Given the description of an element on the screen output the (x, y) to click on. 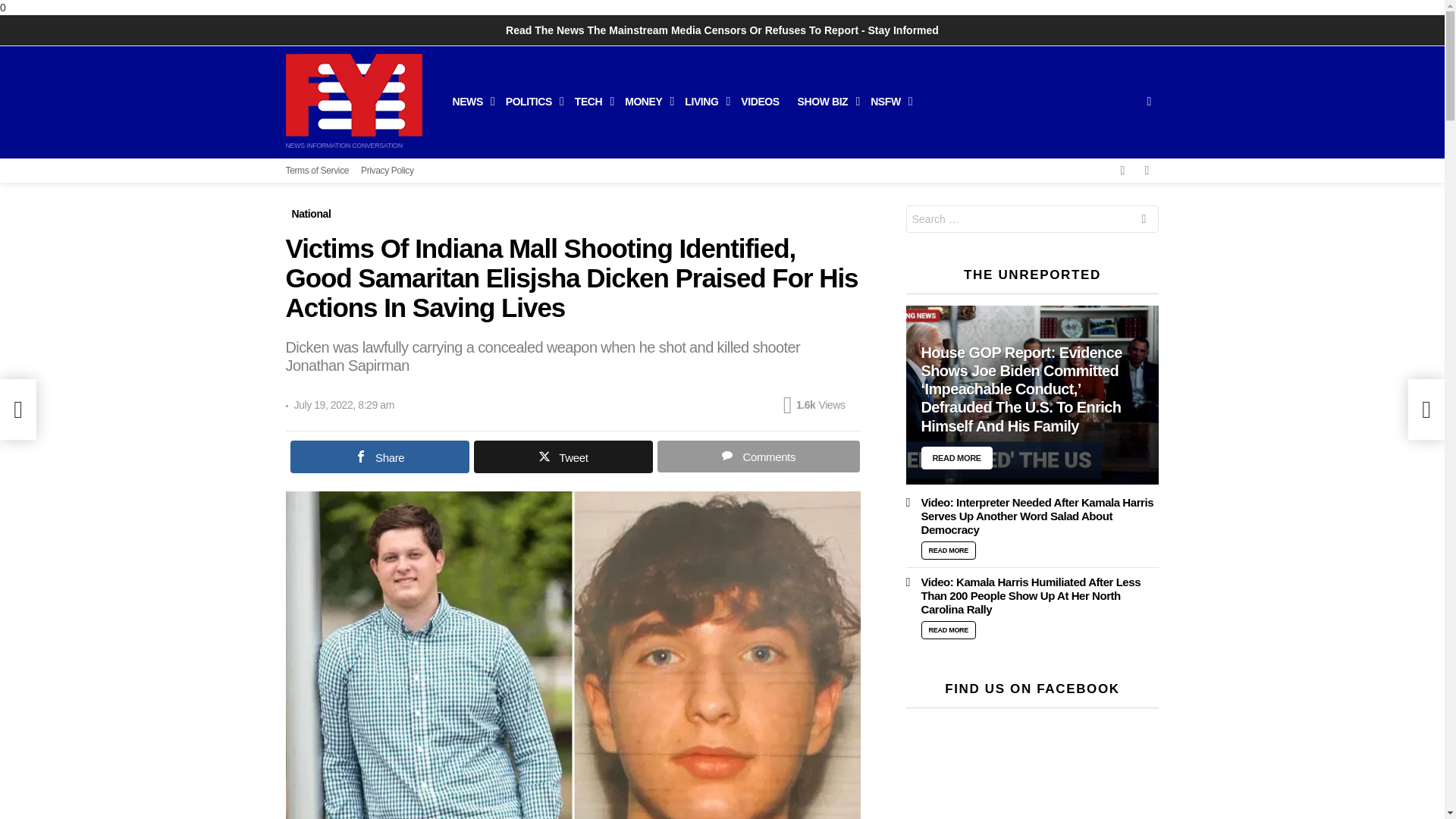
NEWS (469, 101)
LIVING (703, 101)
TECH (590, 101)
MONEY (645, 101)
POLITICS (530, 101)
